Given the description of an element on the screen output the (x, y) to click on. 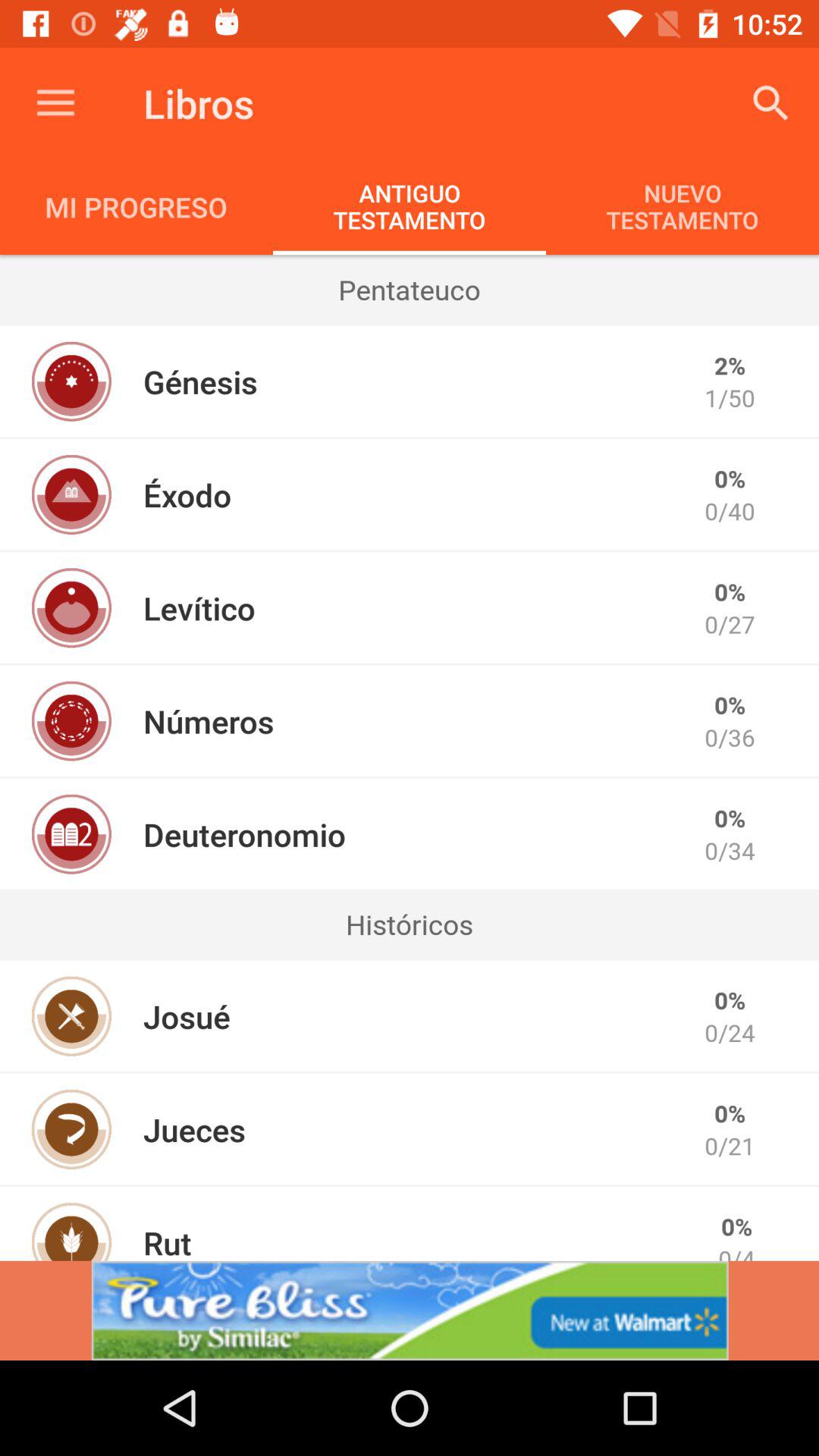
flip to the jueces (194, 1129)
